Given the description of an element on the screen output the (x, y) to click on. 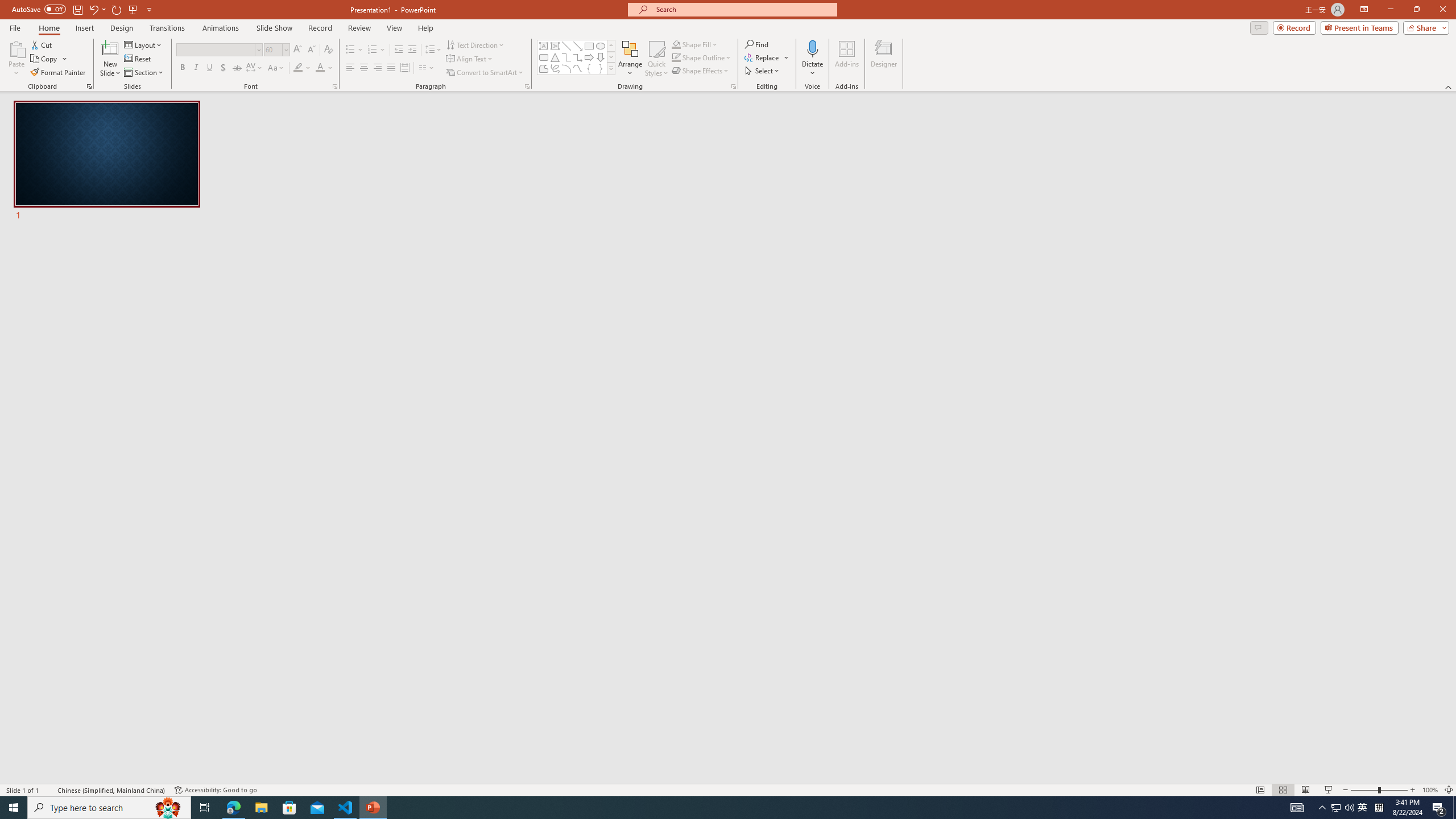
Arrange (630, 58)
Isosceles Triangle (554, 57)
Section (144, 72)
Decrease Font Size (310, 49)
Curve (577, 68)
Bold (182, 67)
Quick Styles (656, 58)
Increase Indent (412, 49)
Paragraph... (526, 85)
Arrow: Right (589, 57)
Text Highlight Color (302, 67)
Rectangle (589, 45)
